Given the description of an element on the screen output the (x, y) to click on. 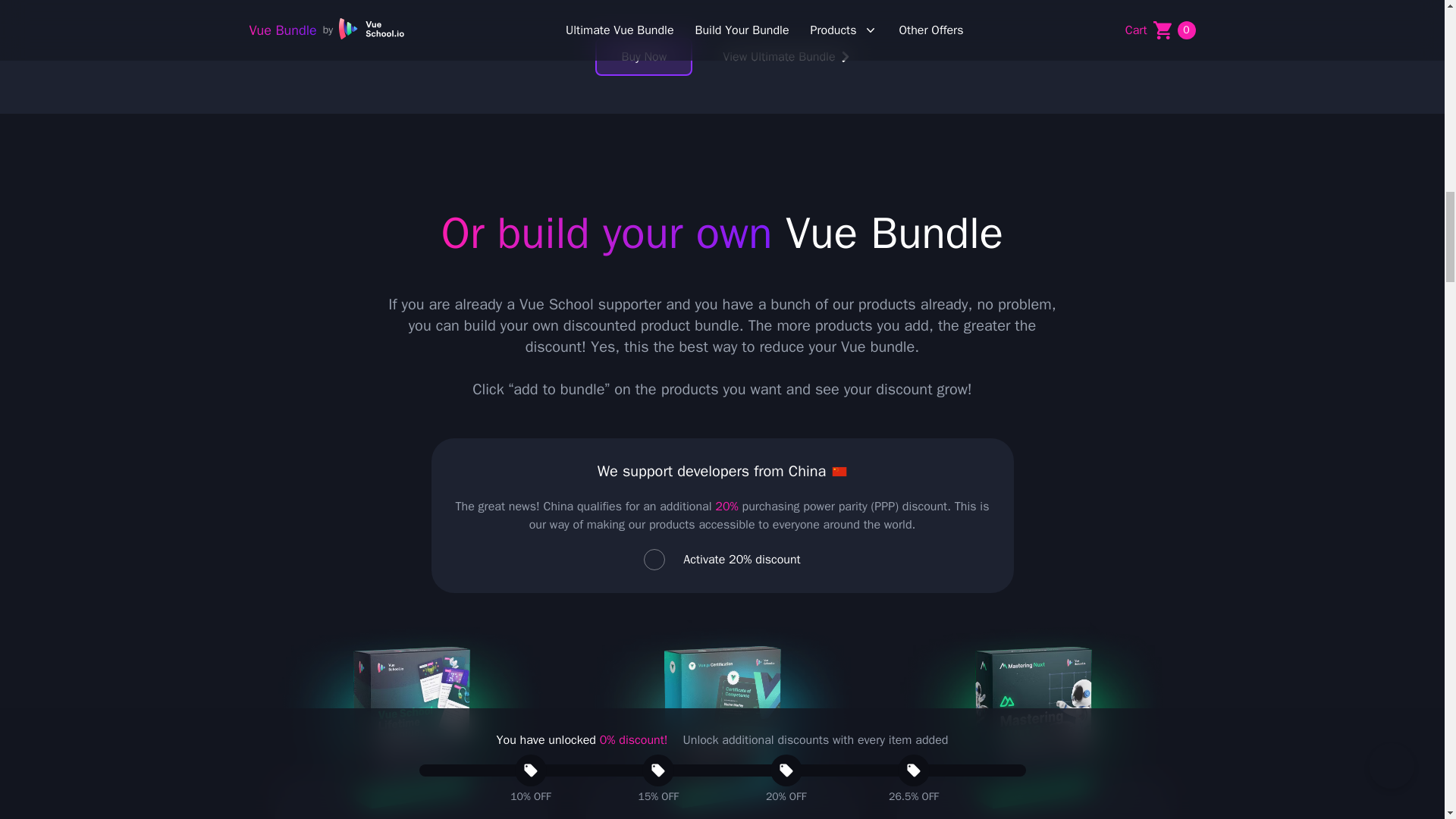
View Ultimate Bundle (785, 56)
on (654, 559)
Buy Now (644, 56)
